Given the description of an element on the screen output the (x, y) to click on. 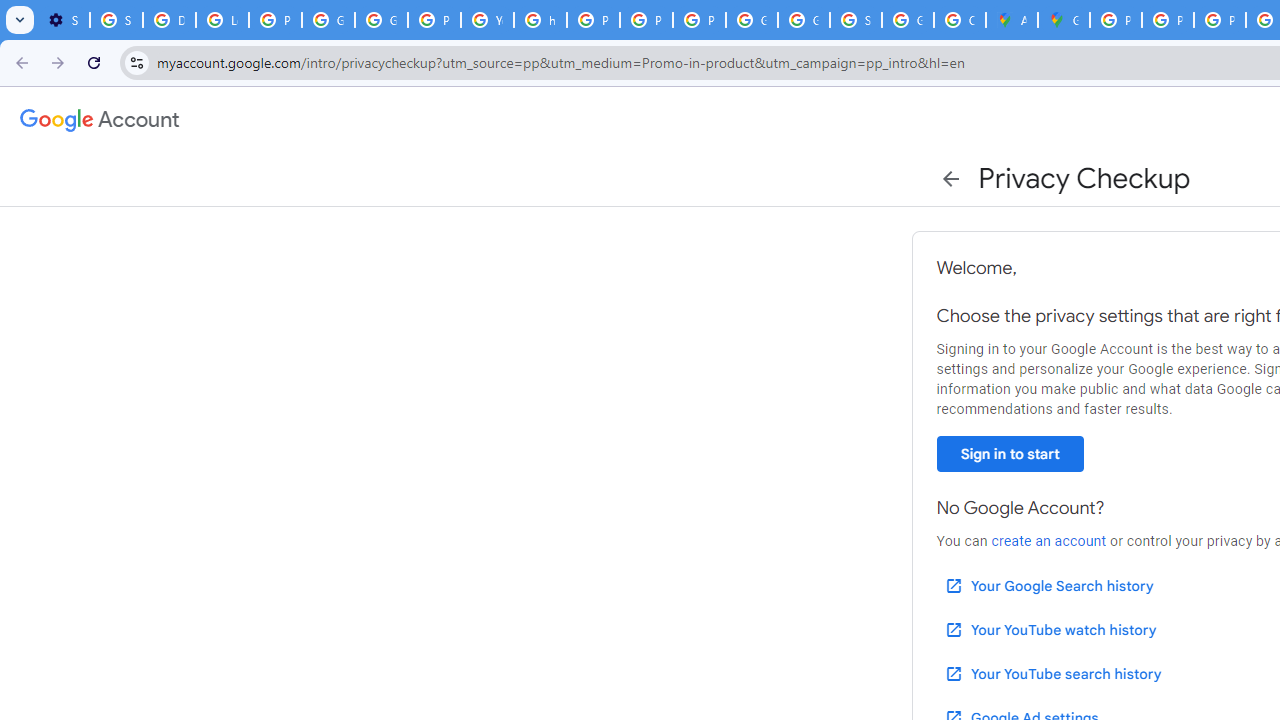
Create your Google Account (959, 20)
Sign in to start (1009, 454)
Your Google Search history (1048, 586)
